Given the description of an element on the screen output the (x, y) to click on. 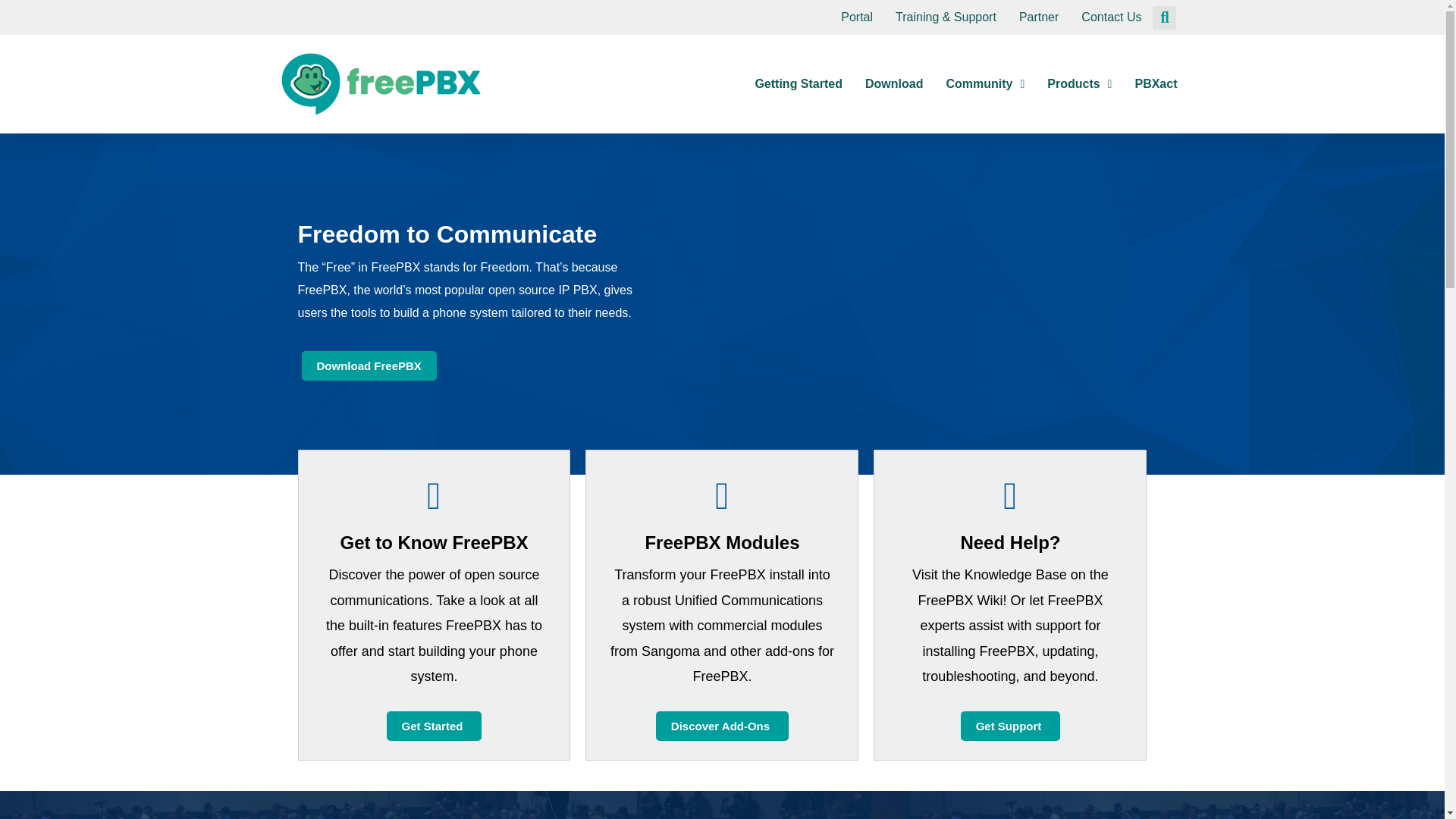
Partner (1038, 17)
Portal (856, 17)
Getting Started (798, 83)
Download (893, 83)
Products (1079, 83)
PBXact (1155, 83)
Community (984, 83)
Contact Us (1111, 17)
